Given the description of an element on the screen output the (x, y) to click on. 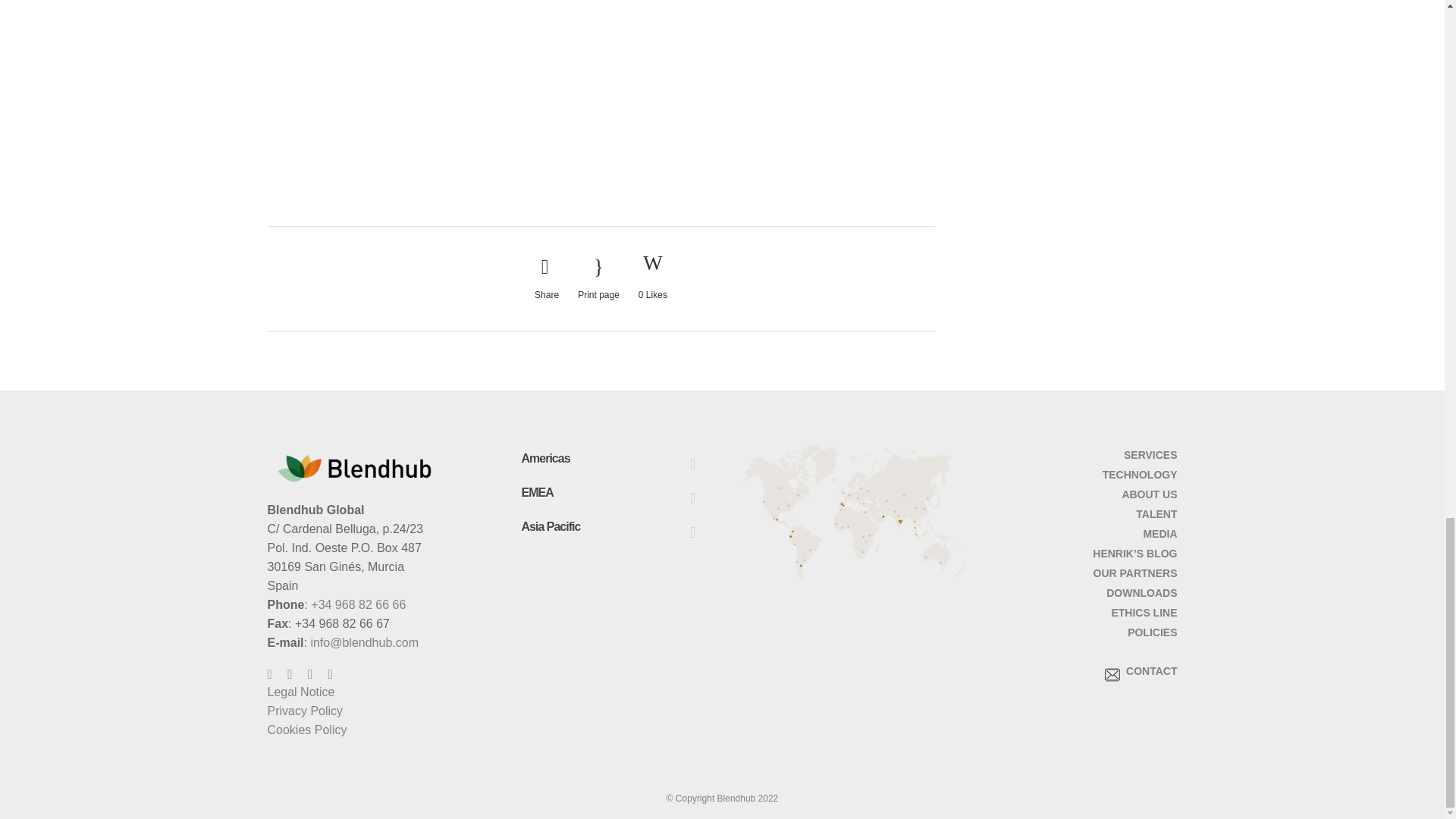
Print page (599, 278)
